Given the description of an element on the screen output the (x, y) to click on. 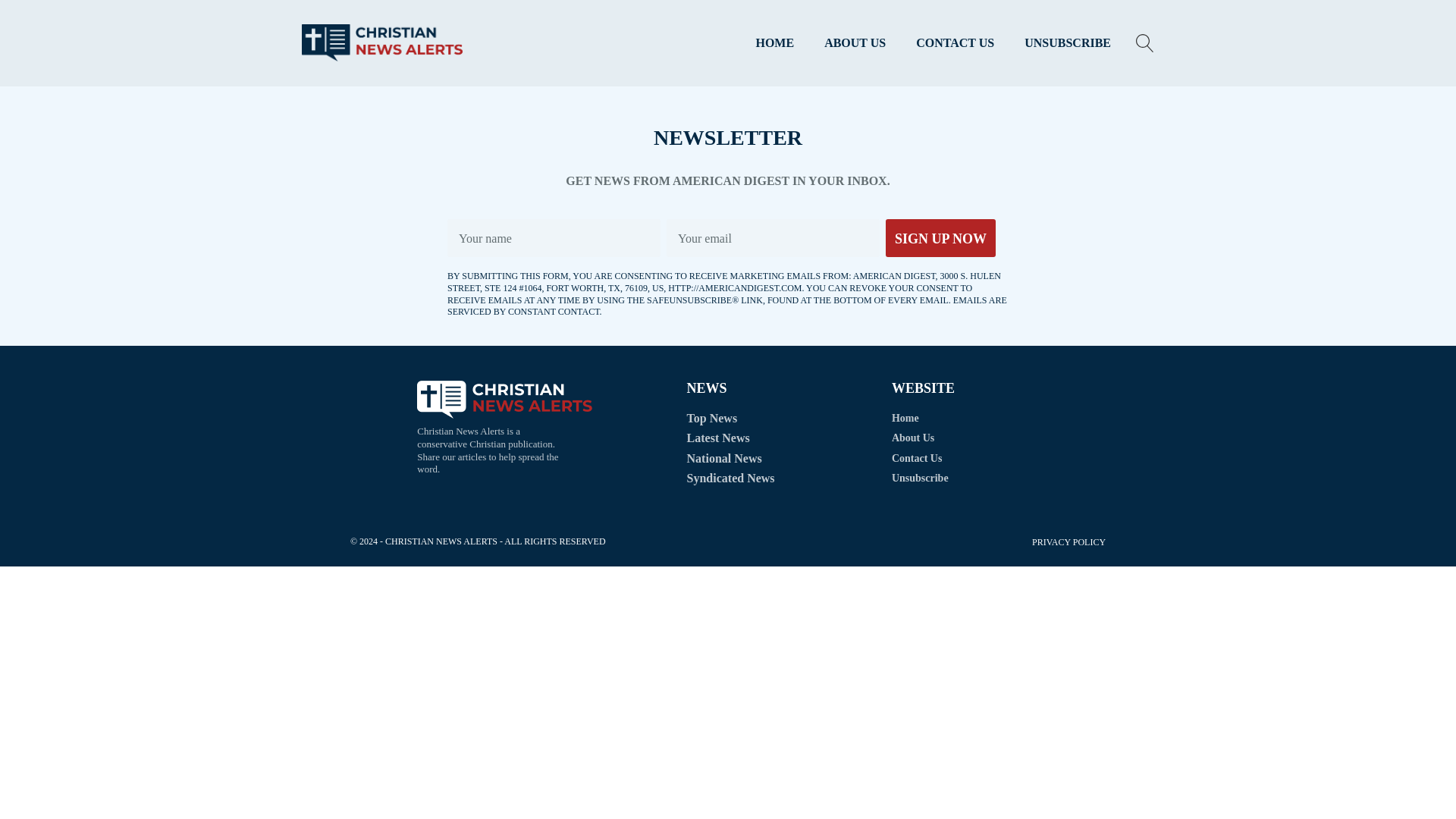
SIGN UP NOW (940, 238)
National News (724, 458)
Latest News (718, 437)
CONTACT US (955, 43)
Syndicated News (730, 478)
About Us (920, 437)
PRIVACY POLICY (1068, 542)
Contact Us (920, 458)
UNSUBSCRIBE (1067, 43)
ABOUT US (855, 43)
